Given the description of an element on the screen output the (x, y) to click on. 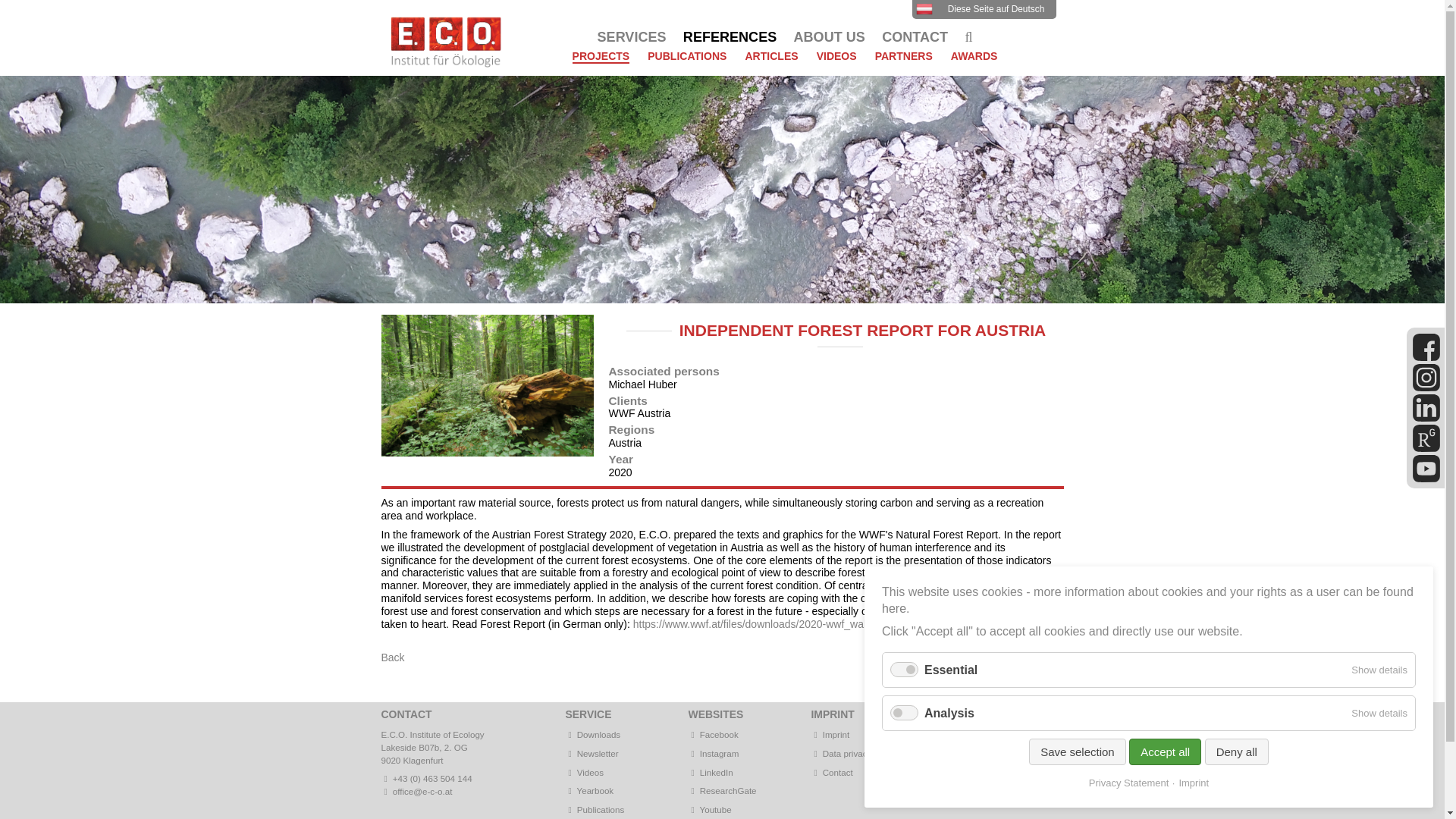
VIDEOS (837, 61)
CONTACT (914, 37)
Downloads (593, 734)
LinkedIn (710, 772)
Contact (914, 37)
PARTNERS (904, 61)
Awards (974, 61)
REFERENCES (730, 37)
PUBLICATIONS (687, 61)
References (730, 37)
Projektdetails (983, 9)
Newsletter (592, 753)
Videos (837, 61)
Partners (904, 61)
ARTICLES (770, 61)
